Given the description of an element on the screen output the (x, y) to click on. 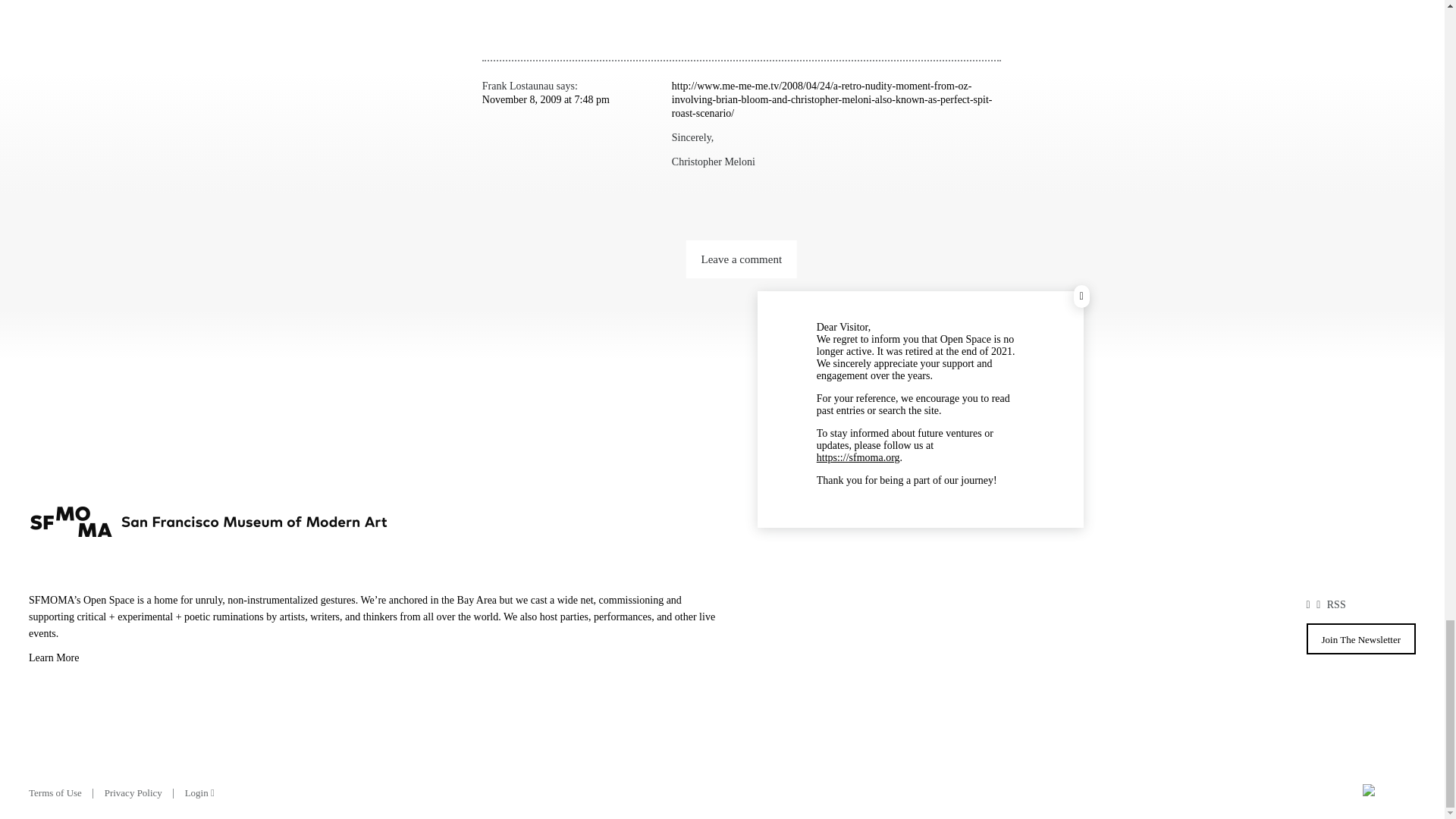
Privacy Policy (132, 792)
Join The Newsletter (1360, 638)
Learn More (375, 660)
November 8, 2009 at 7:48 pm (545, 99)
RSS (1335, 604)
Terms of Use (55, 792)
Login (199, 792)
